Given the description of an element on the screen output the (x, y) to click on. 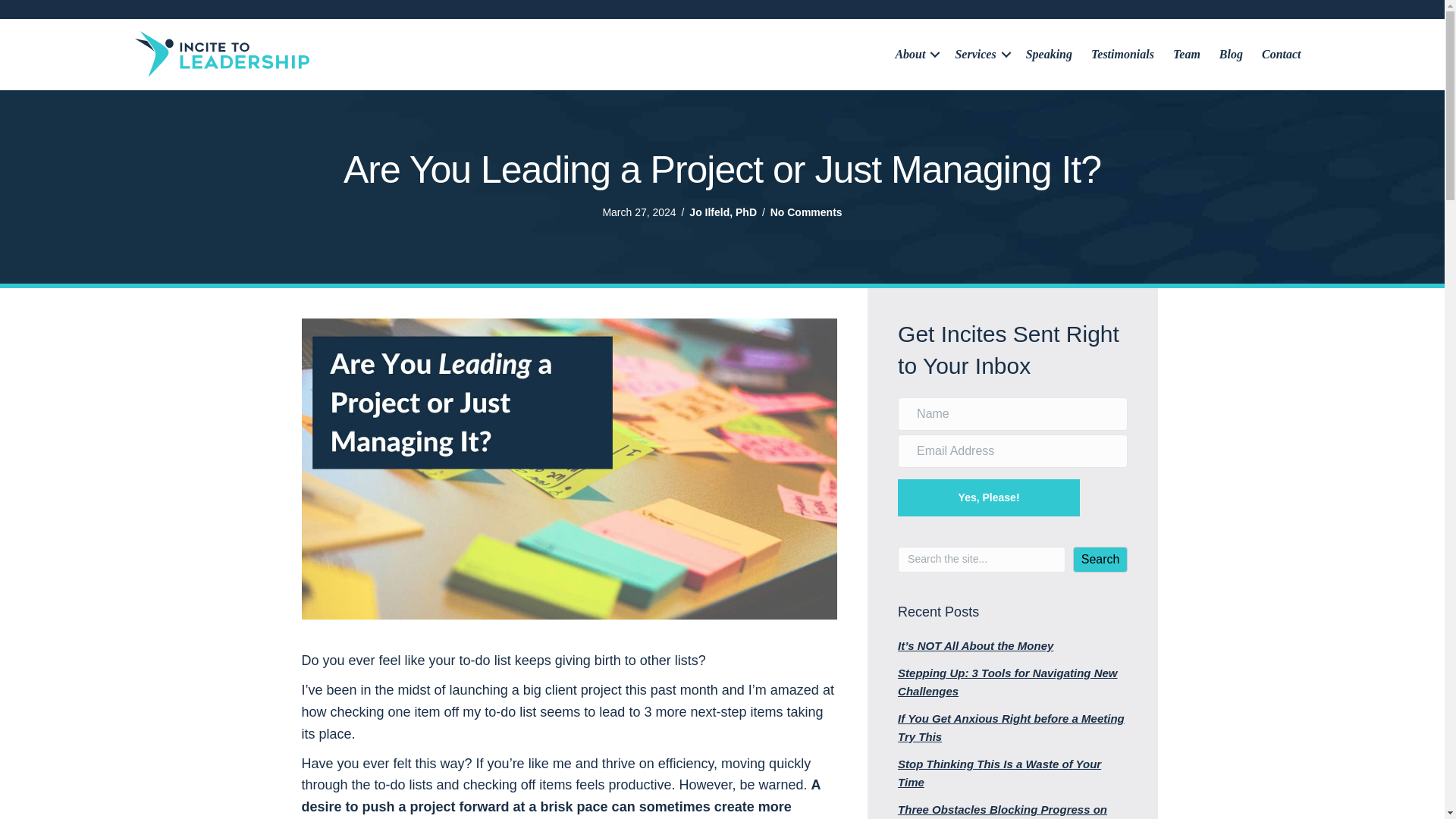
Three Obstacles Blocking Progress on Your Goals (1002, 811)
Jo Ilfeld, PhD (722, 212)
Testimonials (1122, 54)
Search (1100, 559)
Stop Thinking This Is a Waste of Your Time (999, 772)
Speaking (1048, 54)
No Comments (806, 212)
Yes, Please! (989, 497)
If You Get Anxious Right before a Meeting Try This (1011, 726)
